Given the description of an element on the screen output the (x, y) to click on. 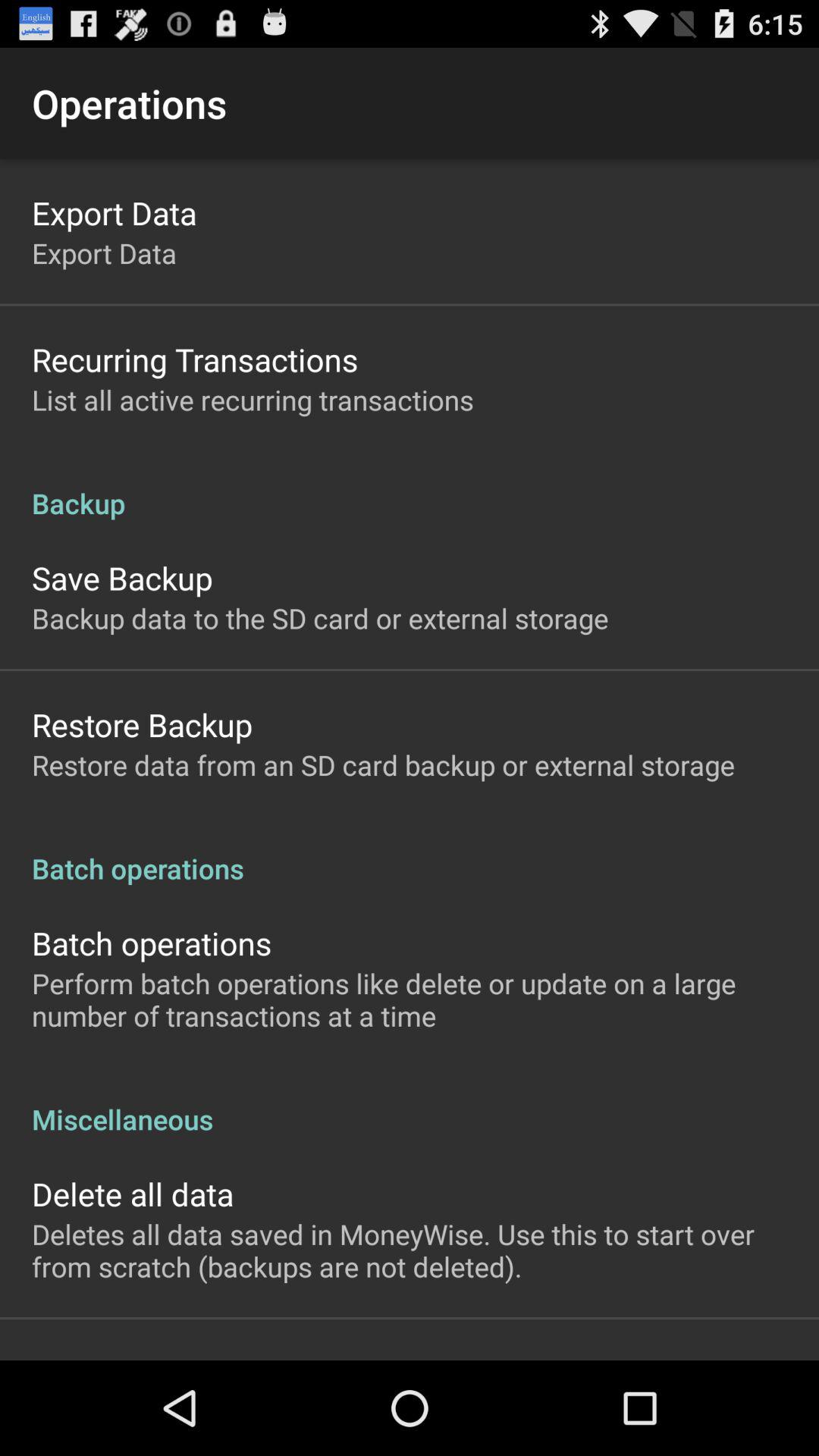
scroll to the save backup (121, 577)
